Given the description of an element on the screen output the (x, y) to click on. 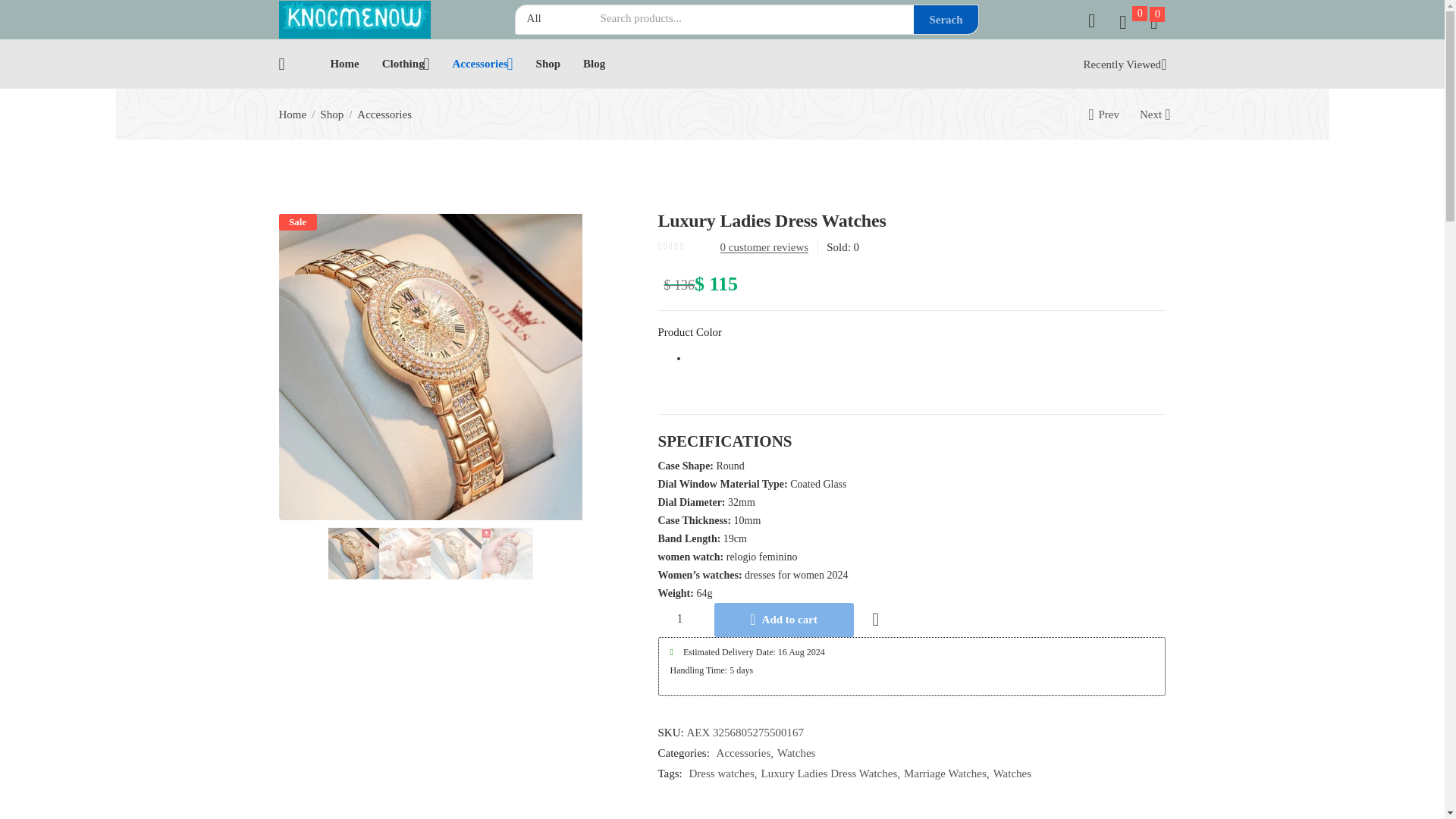
1 (679, 618)
Clothing (405, 64)
Gold (927, 358)
Home (344, 63)
Serach (945, 19)
Luxury Ladies Dress Watches (430, 366)
